Given the description of an element on the screen output the (x, y) to click on. 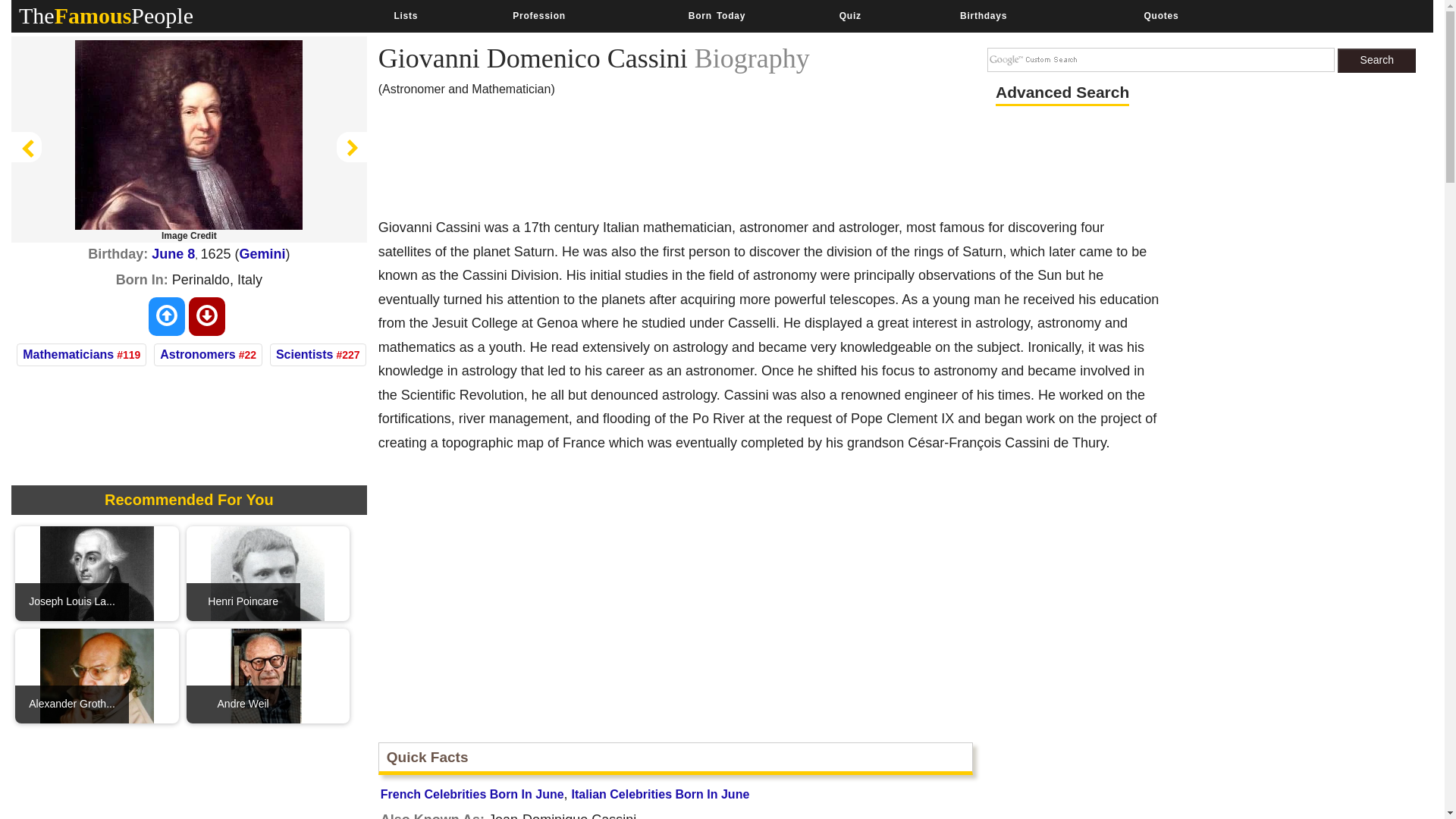
Advanced Search (1062, 93)
Advertisement (188, 776)
Gemini (262, 253)
June 8 (173, 253)
Lists (405, 15)
Joseph Louis La... (97, 572)
Scientists (304, 354)
Quotes (1160, 15)
Profession (538, 15)
Andre Weil (267, 674)
